Given the description of an element on the screen output the (x, y) to click on. 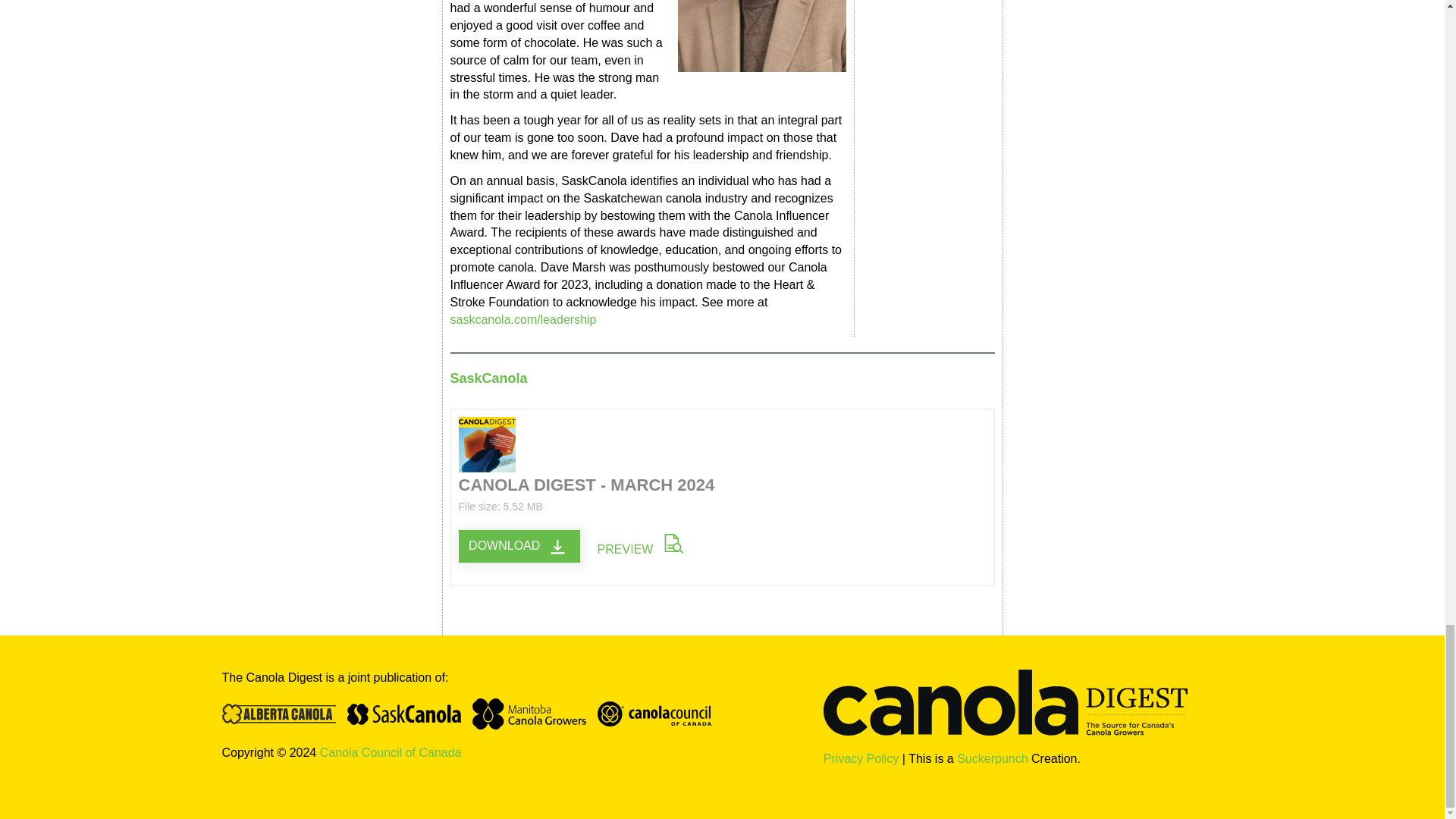
Alberta Canola (283, 707)
Manitoba Canola Growers (533, 708)
Canola Digest - March 2024 (518, 545)
SaskCanola (409, 708)
